Given the description of an element on the screen output the (x, y) to click on. 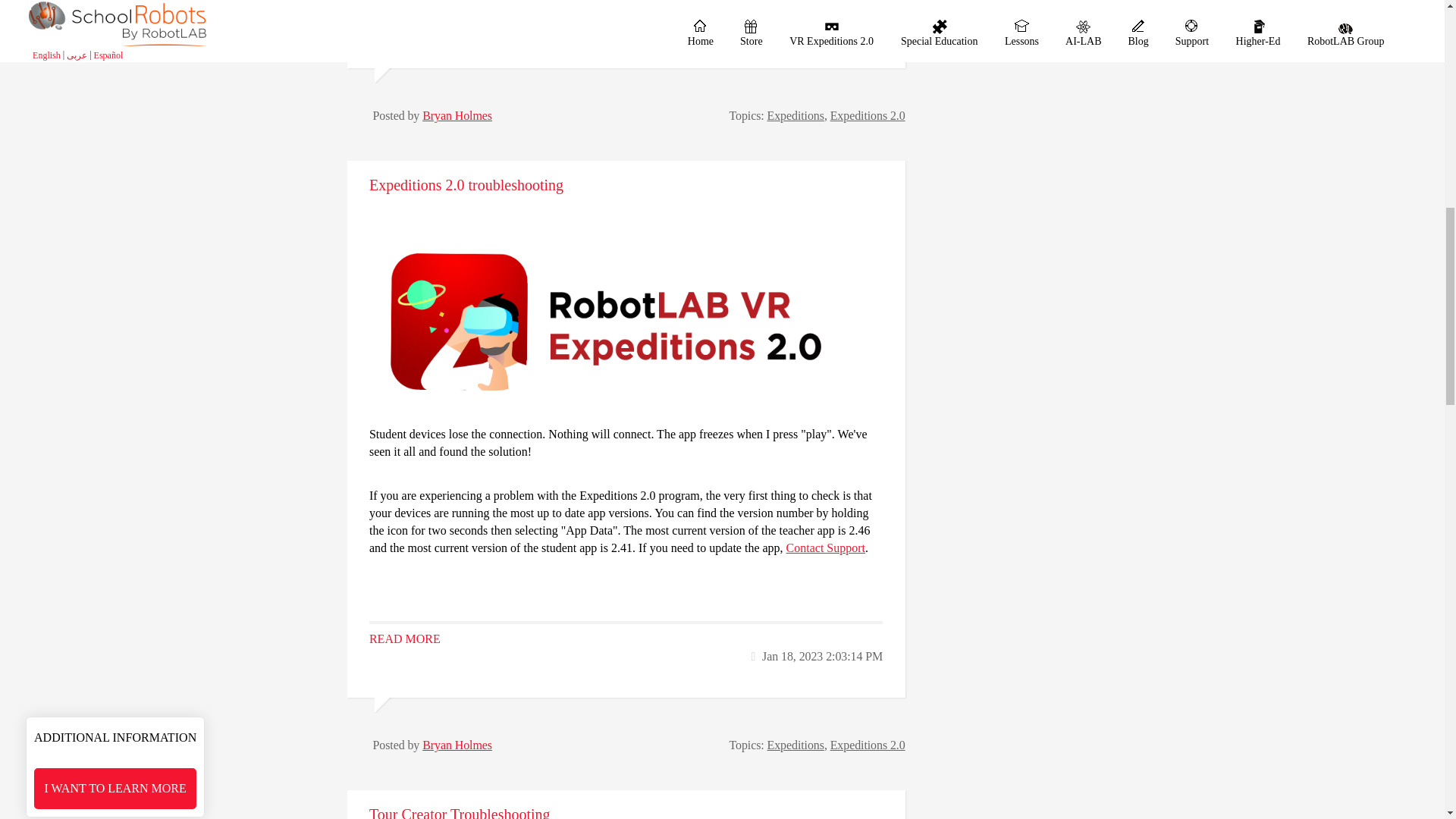
Bryan Holmes (457, 115)
Expeditions (795, 744)
Expeditions (795, 115)
READ MORE (405, 9)
Expeditions 2.0 (867, 744)
READ MORE (405, 639)
Bryan Holmes (457, 744)
Expeditions 2.0 (867, 115)
Contact Support (825, 547)
Expeditions 2.0 troubleshooting (466, 184)
